Given the description of an element on the screen output the (x, y) to click on. 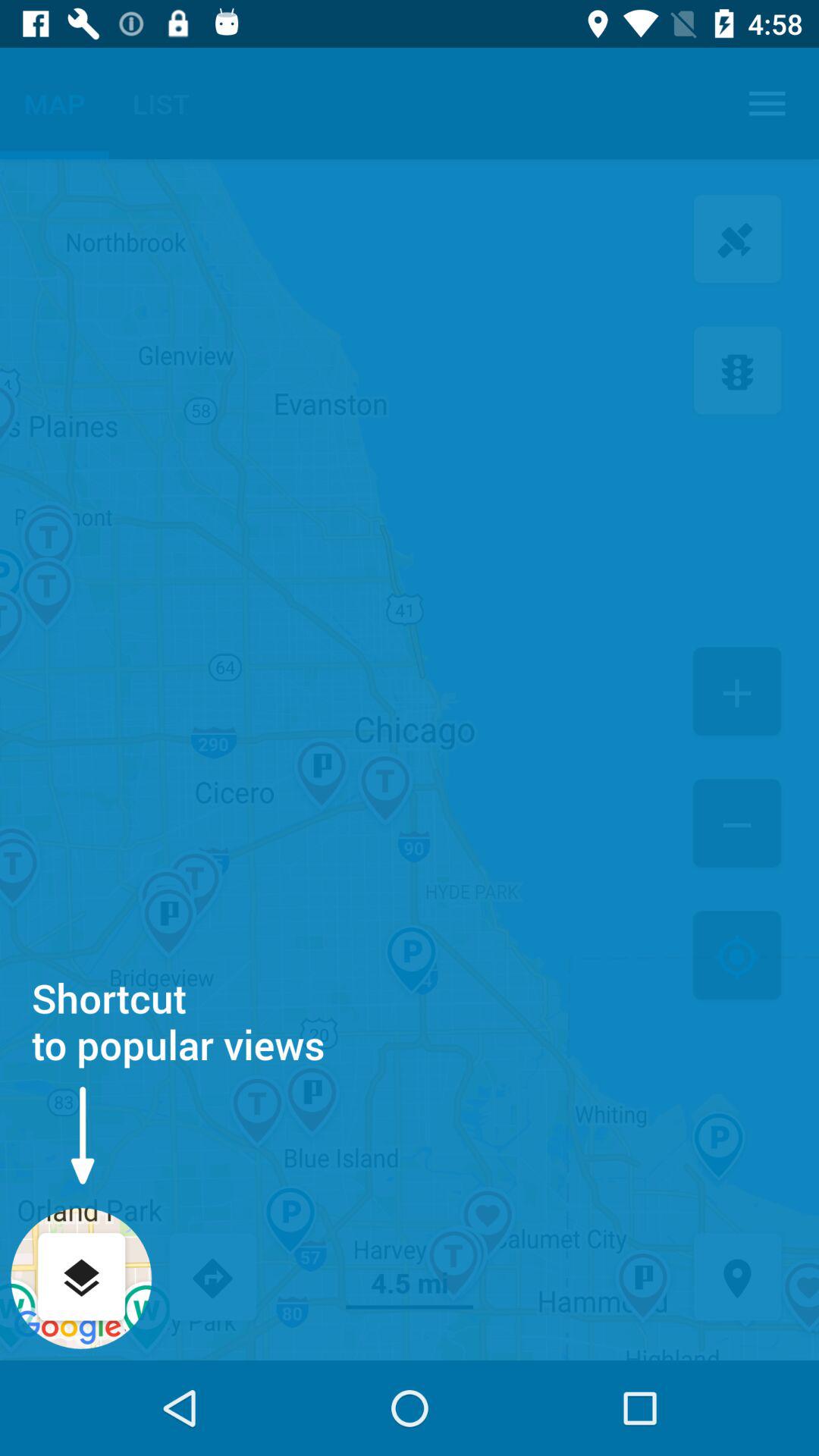
toggle popular views menu (81, 1278)
